Given the description of an element on the screen output the (x, y) to click on. 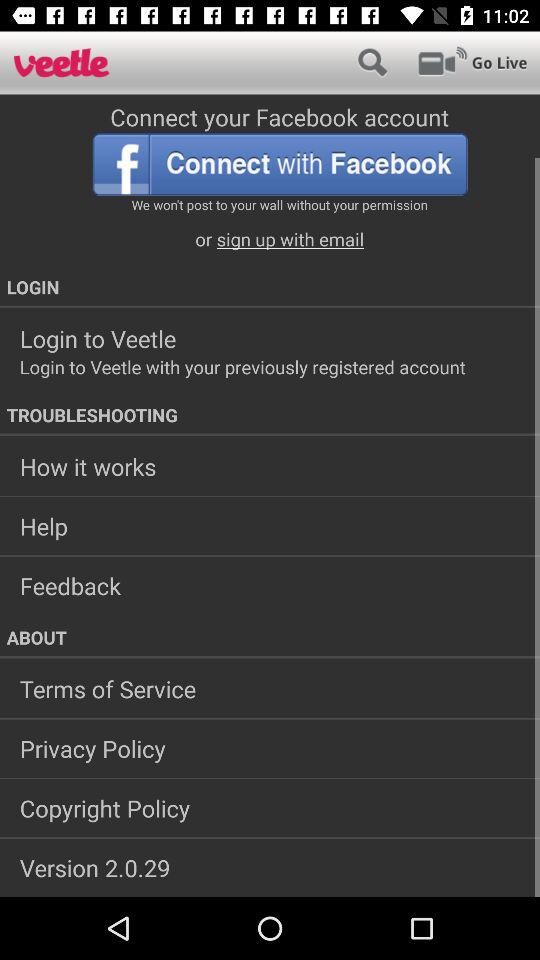
turn on troubleshooting app (270, 415)
